Given the description of an element on the screen output the (x, y) to click on. 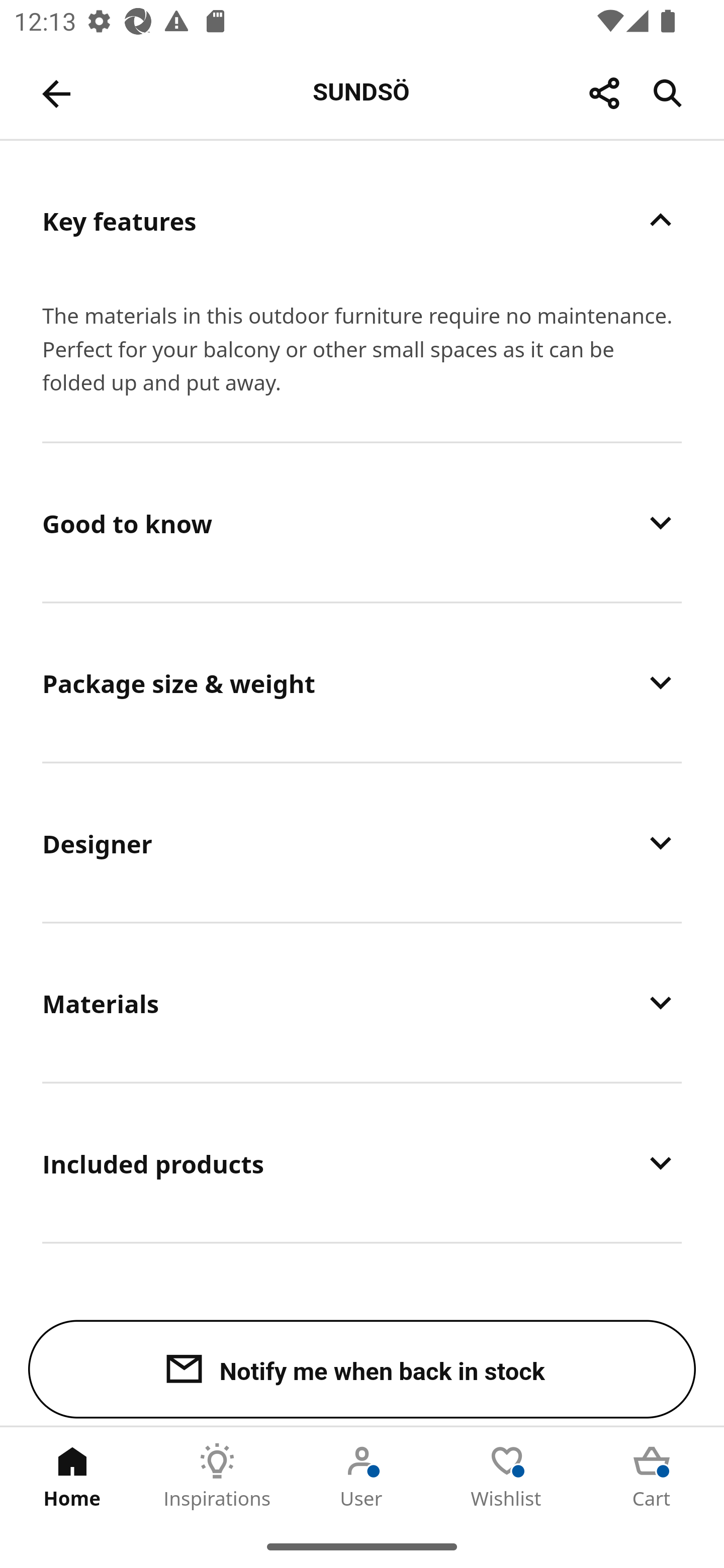
Key features (361, 219)
Good to know (361, 522)
Package size & weight (361, 682)
Designer (361, 842)
Materials (361, 1002)
Included products (361, 1162)
Notify me when back in stock (361, 1369)
Home
Tab 1 of 5 (72, 1476)
Inspirations
Tab 2 of 5 (216, 1476)
User
Tab 3 of 5 (361, 1476)
Wishlist
Tab 4 of 5 (506, 1476)
Cart
Tab 5 of 5 (651, 1476)
